Given the description of an element on the screen output the (x, y) to click on. 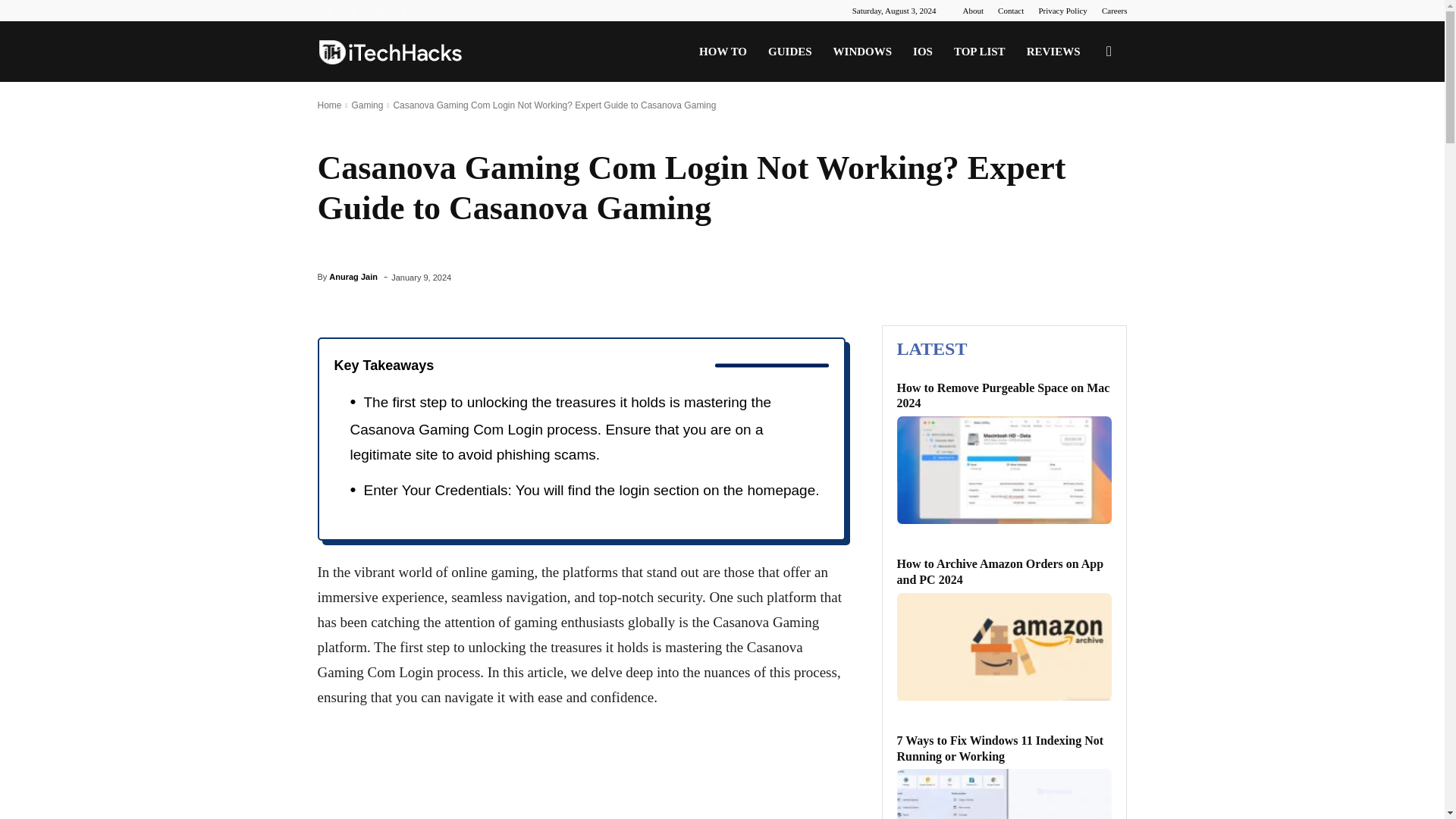
Youtube (403, 10)
Careers (1114, 10)
Anurag Jain (353, 276)
About (973, 10)
Home (328, 104)
GUIDES (789, 51)
Search (1085, 124)
Privacy Policy (1062, 10)
TOP LIST (979, 51)
Contact (1010, 10)
WINDOWS (862, 51)
iTech Hacks (390, 51)
HOW TO (722, 51)
Twitter (379, 10)
REVIEWS (1053, 51)
